Given the description of an element on the screen output the (x, y) to click on. 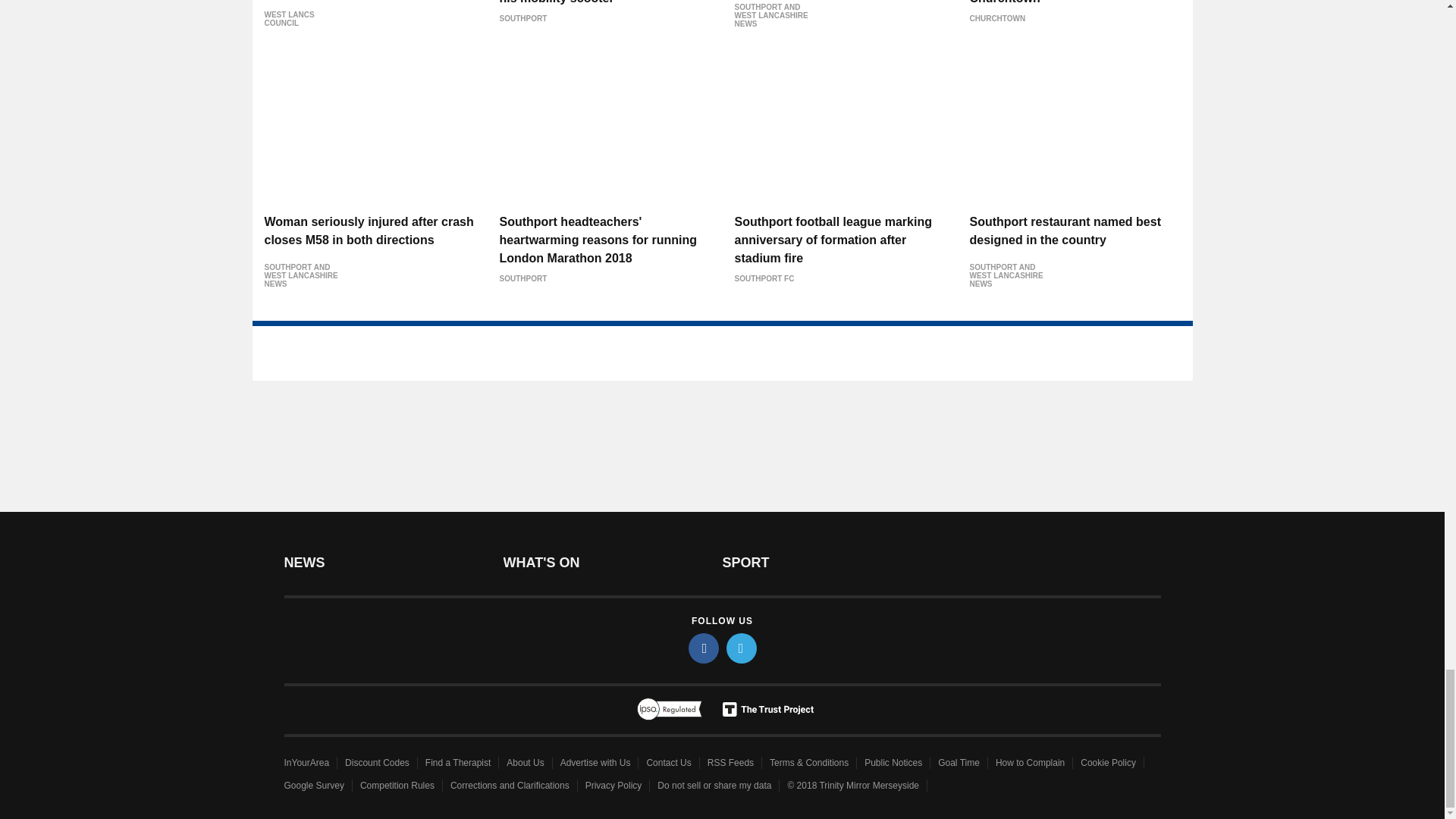
twitter (741, 648)
facebook (703, 648)
